Given the description of an element on the screen output the (x, y) to click on. 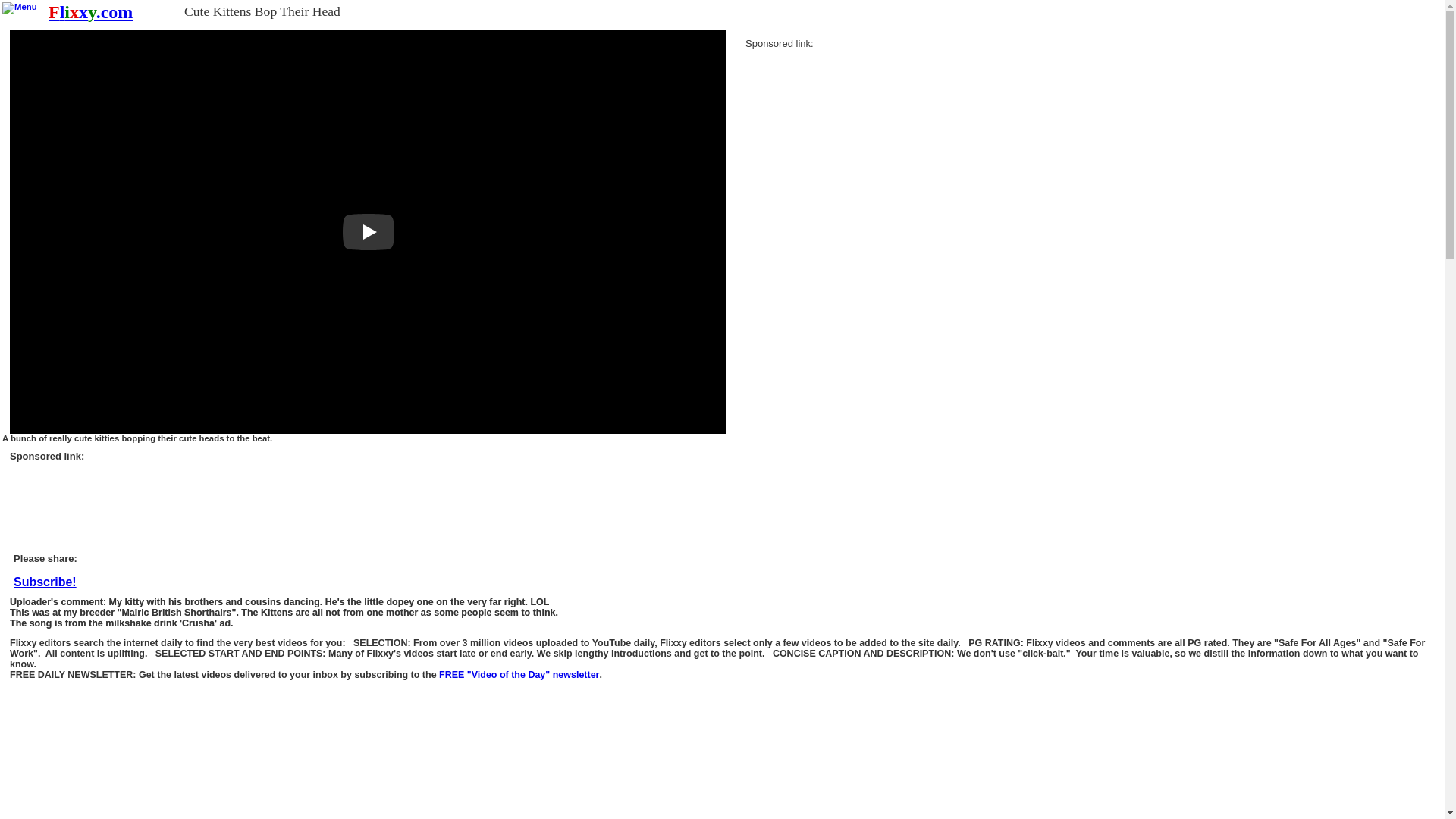
Play (368, 231)
FREE "Video of the Day" newsletter (518, 675)
Subscribe! (518, 675)
Subscribe! (44, 582)
FREE Newsletter (44, 582)
Home (89, 12)
Menu (19, 8)
Flixxy.com (89, 12)
300x250 (858, 139)
